Given the description of an element on the screen output the (x, y) to click on. 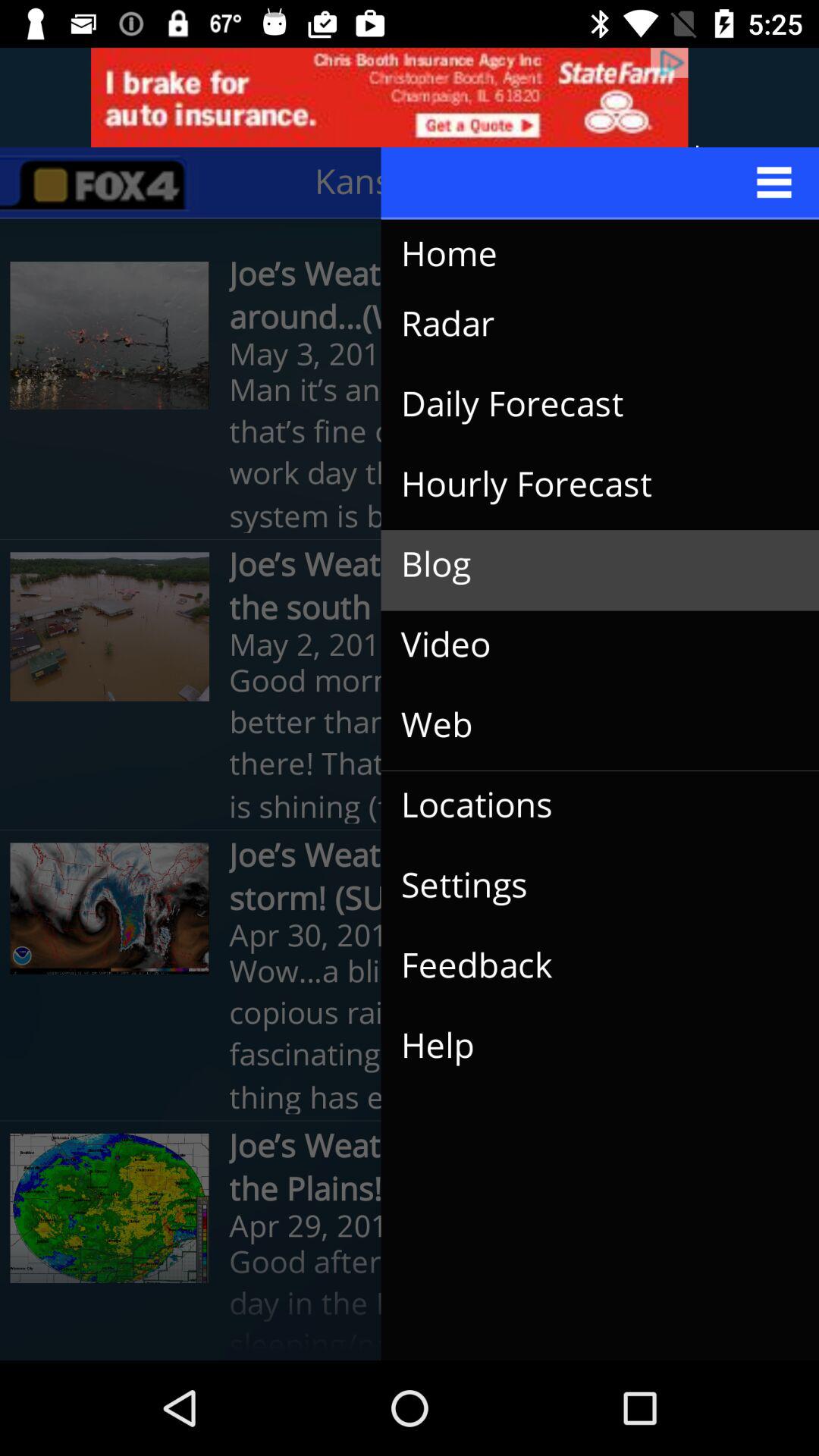
tap icon above the man it s item (587, 324)
